Given the description of an element on the screen output the (x, y) to click on. 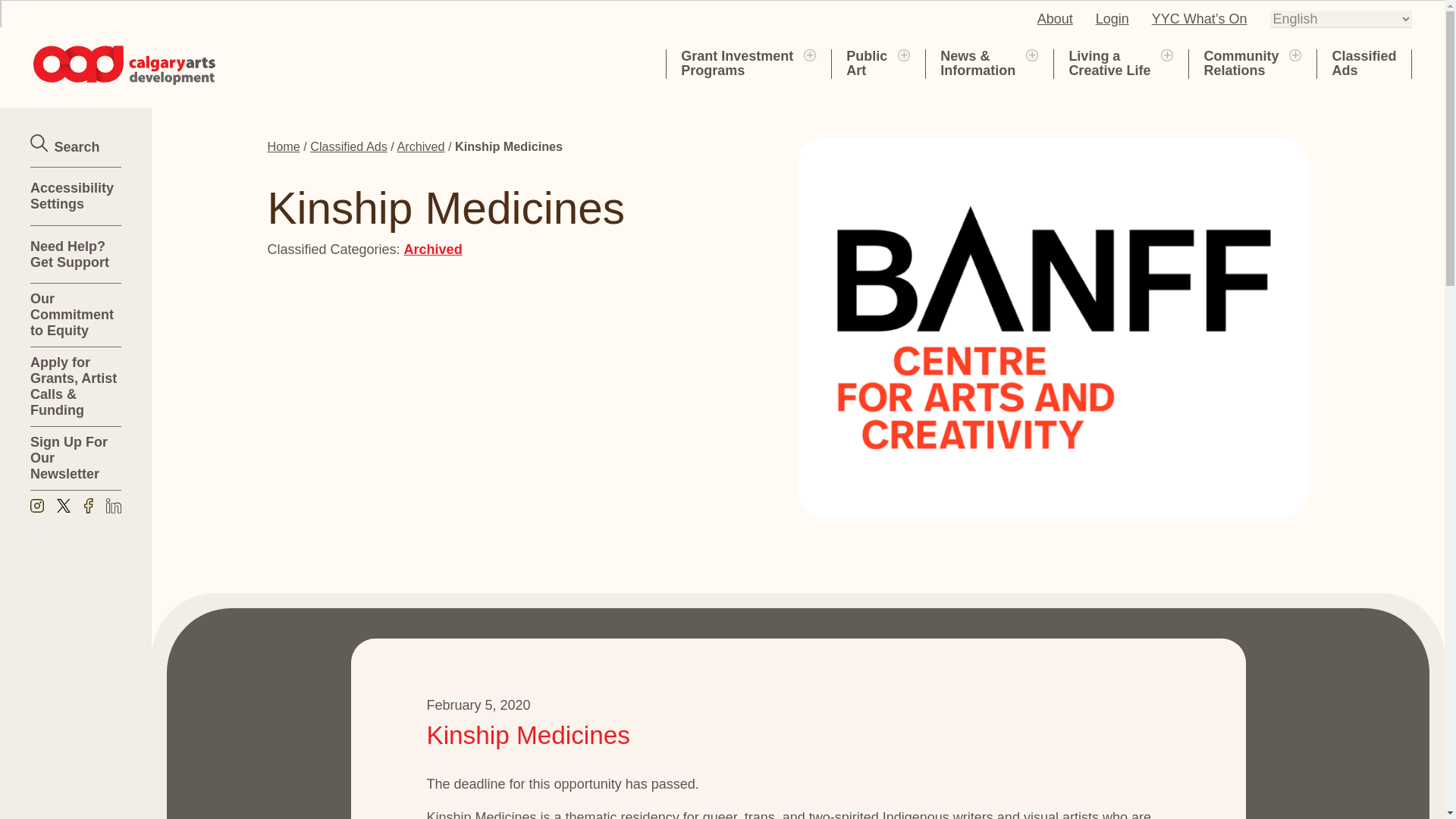
Login (1112, 17)
Expand Public Art Submenu (904, 54)
Expand Community Relations Submenu (1294, 54)
Expand Grant Investment Programs Submenu (737, 63)
Archived (1109, 63)
Expand Living a Creative Life Submenu (809, 54)
About (865, 63)
